Given the description of an element on the screen output the (x, y) to click on. 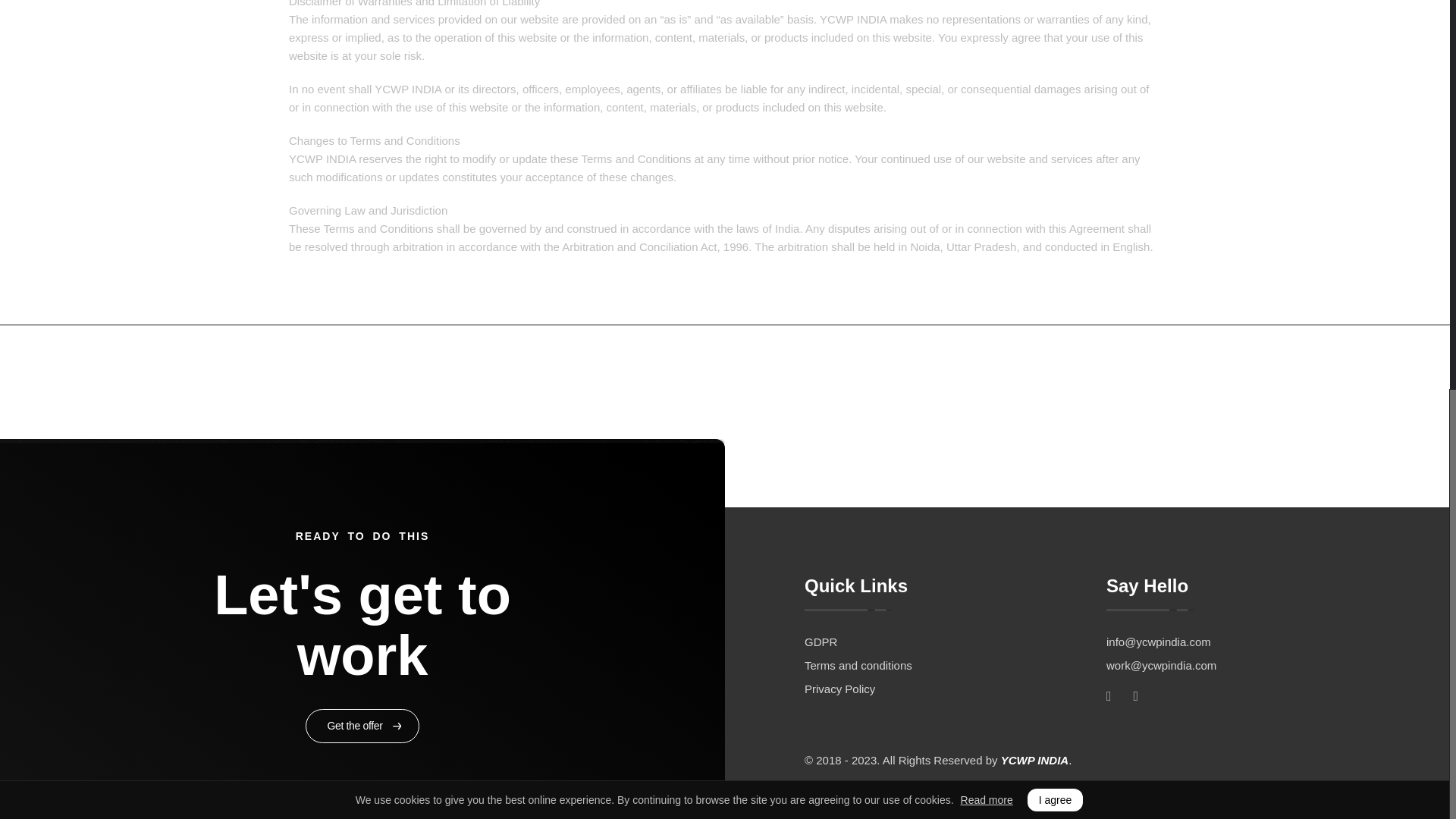
Terms and conditions (955, 665)
Privacy Policy (955, 689)
GDPR (955, 641)
I agree (1055, 55)
YCWP INDIA. (1036, 759)
Get the offer (362, 725)
Read more (986, 55)
Contact (1103, 380)
